Given the description of an element on the screen output the (x, y) to click on. 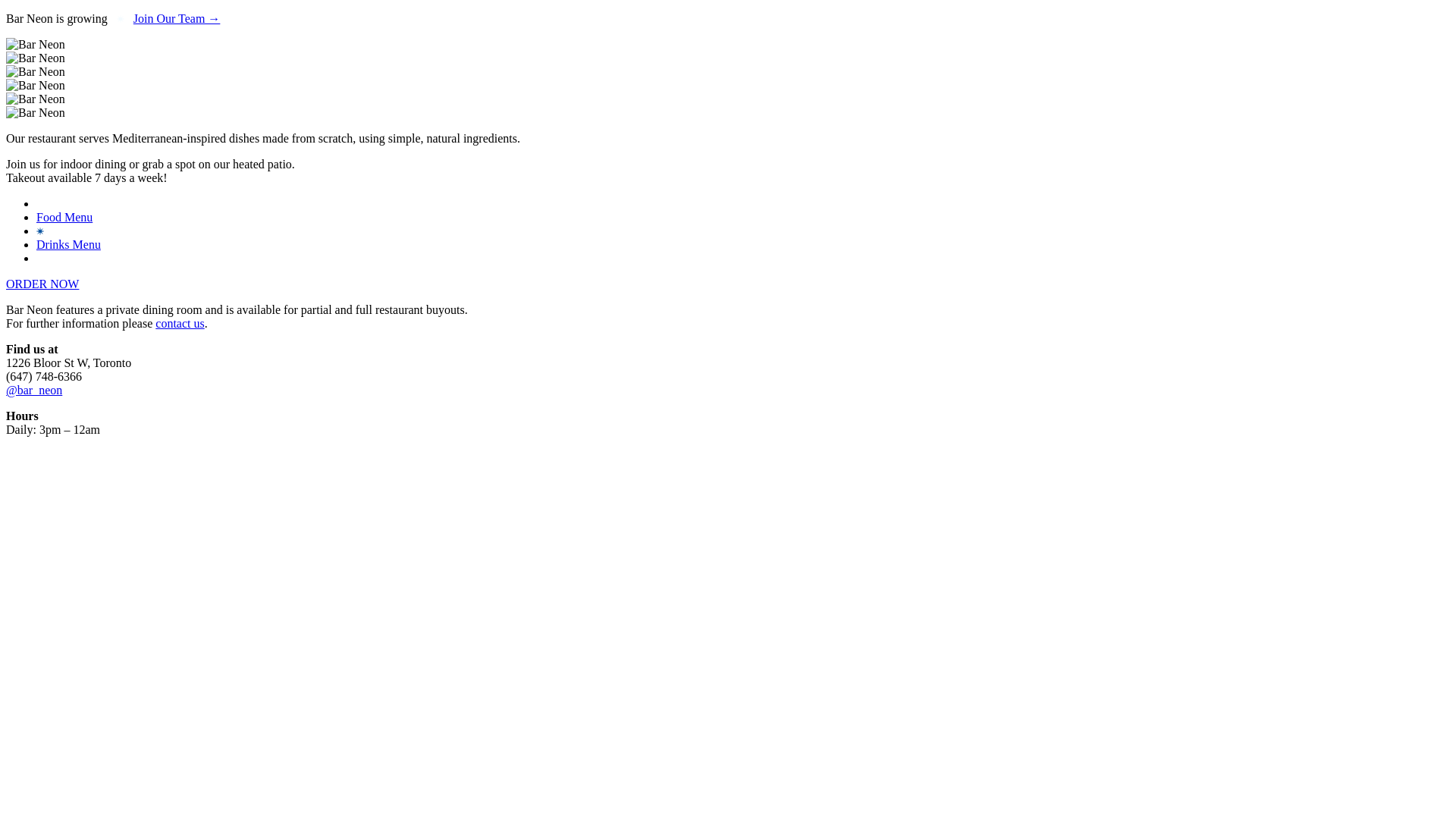
@bar_neon Element type: text (34, 389)
Food Menu Element type: text (64, 216)
Drinks Menu Element type: text (68, 244)
ORDER NOW Element type: text (42, 283)
contact us Element type: text (179, 322)
